Given the description of an element on the screen output the (x, y) to click on. 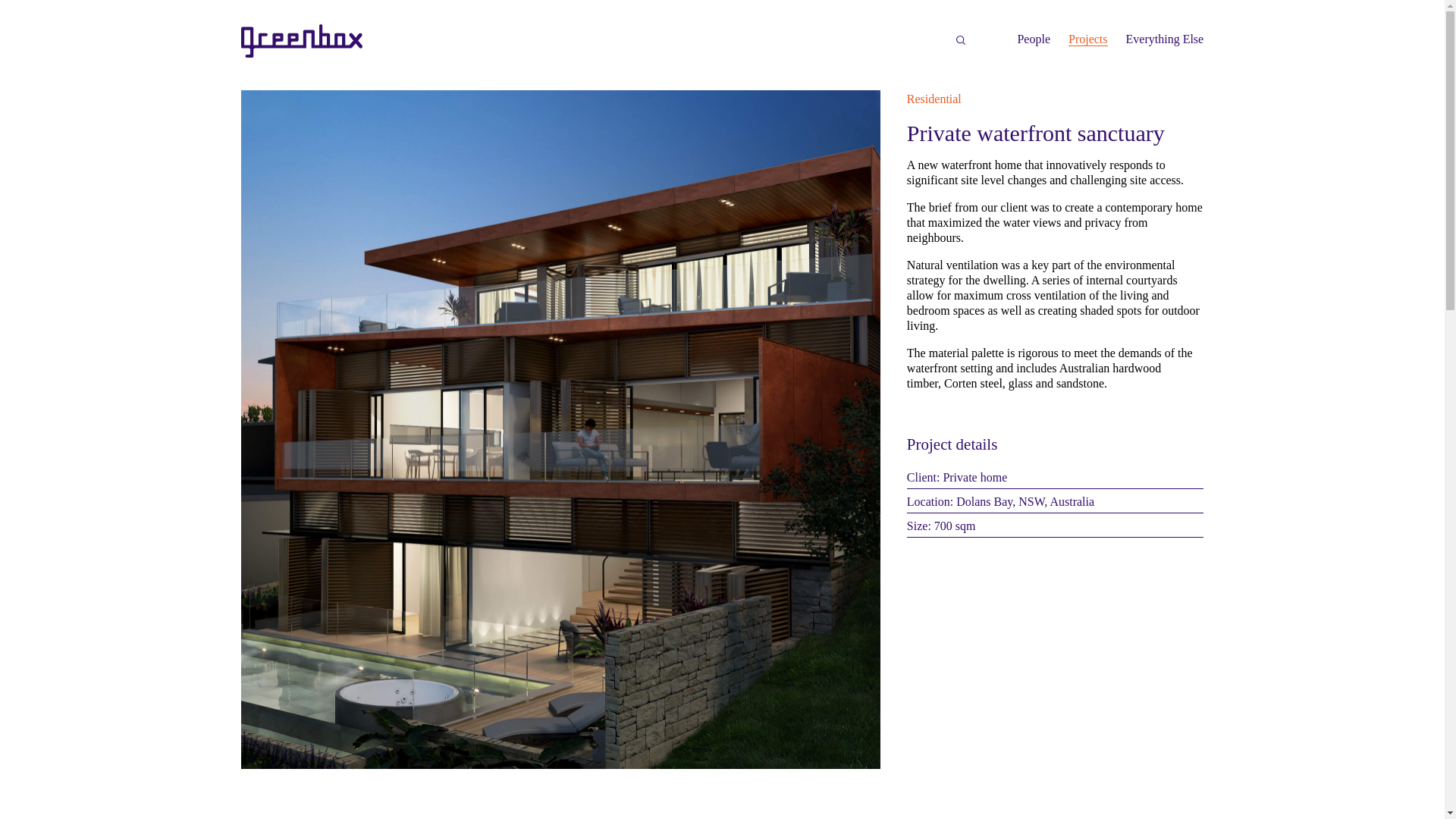
Residential (933, 98)
Everything Else (1164, 38)
People (1032, 38)
Residential (933, 98)
Projects (1088, 38)
